Given the description of an element on the screen output the (x, y) to click on. 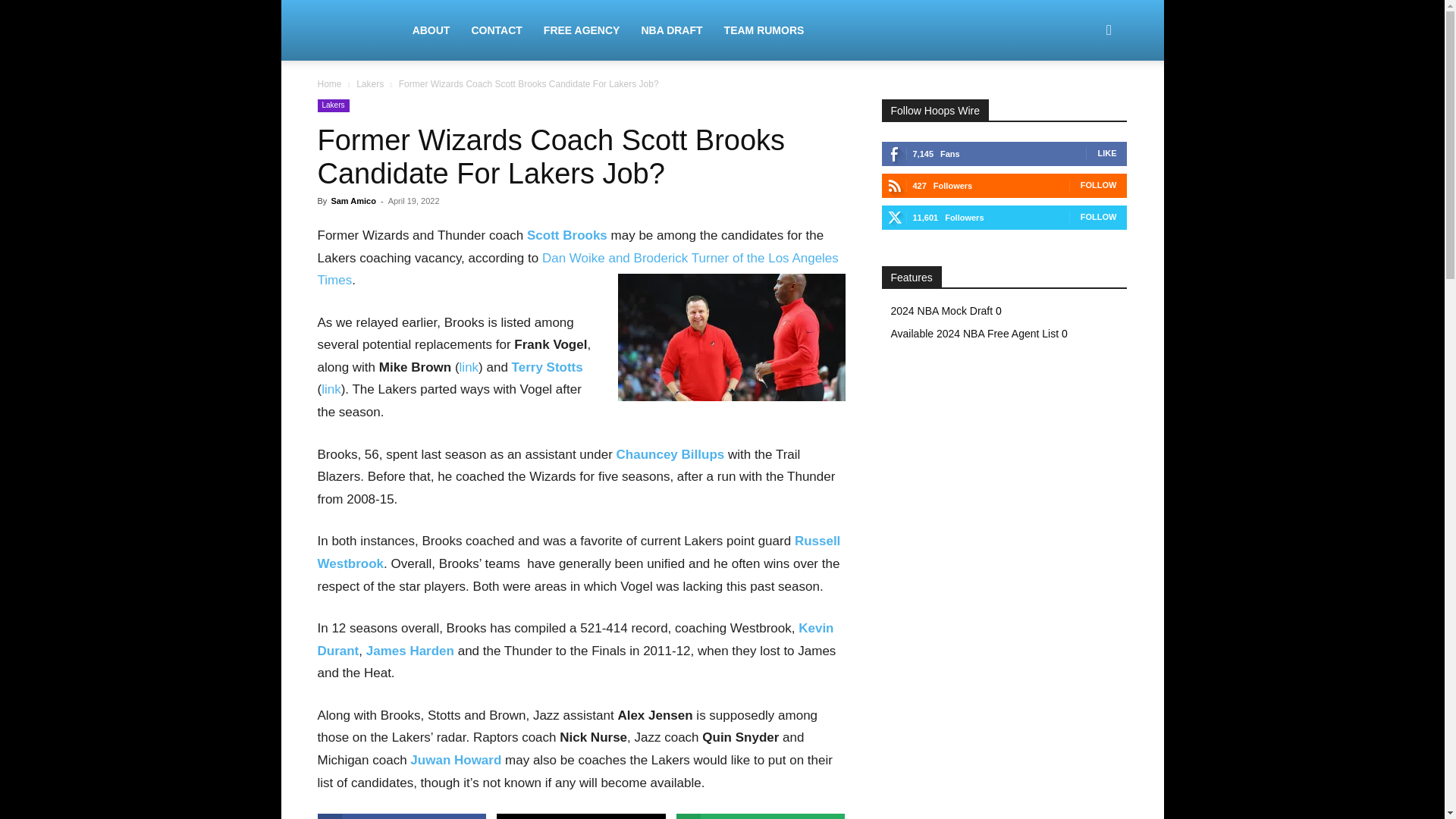
View all posts in Lakers (370, 83)
Share on Facebook (401, 816)
Send over email (761, 816)
Share on X (580, 816)
